Given the description of an element on the screen output the (x, y) to click on. 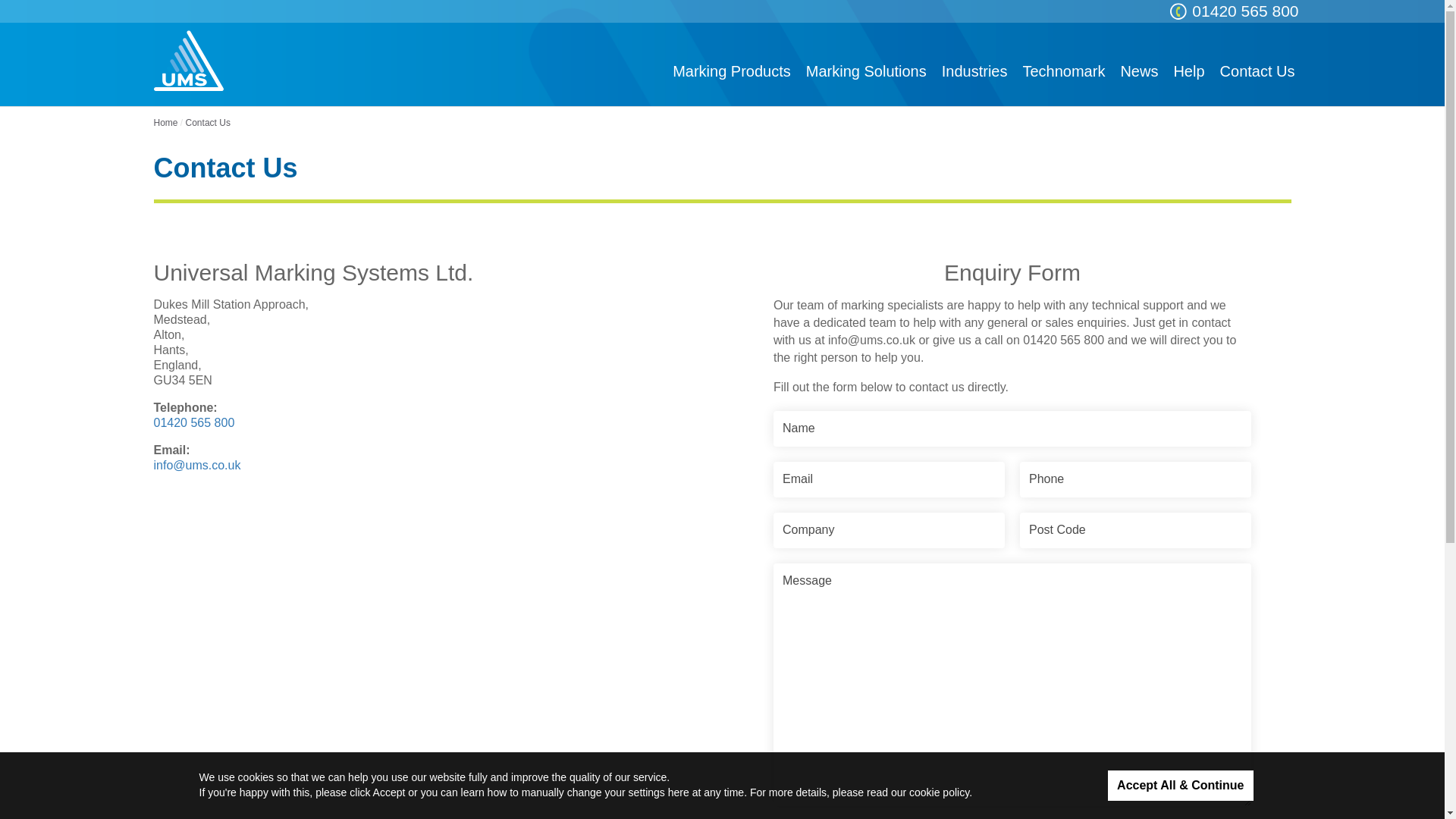
01420 565 800 (1244, 11)
Company (888, 529)
Phone (1135, 479)
Technomark (1063, 71)
Email (888, 479)
Universal Marking Systems Ltd. (187, 60)
Marking Solutions (865, 71)
News (1139, 71)
Post Code (1135, 529)
Help (1188, 71)
Industries (974, 71)
Marking Products (731, 71)
Name (1011, 428)
